Given the description of an element on the screen output the (x, y) to click on. 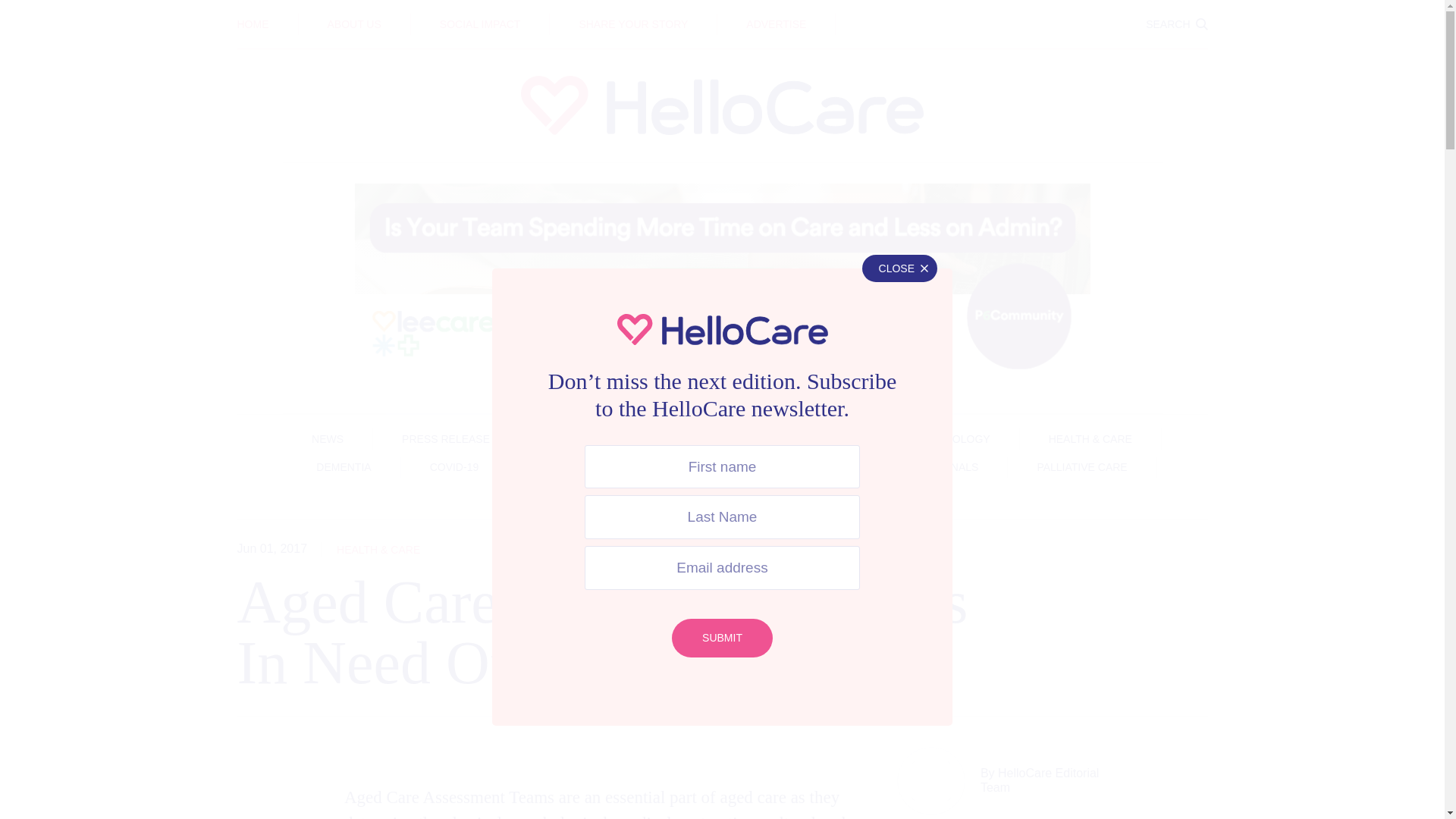
SHARE YOUR STORY (632, 24)
EDUCATION (721, 13)
ADVERTISE (775, 24)
ABOUT US (354, 24)
SEARCH (1176, 24)
SOCIAL IMPACT (480, 24)
Submit (722, 638)
HOME (251, 24)
